Given the description of an element on the screen output the (x, y) to click on. 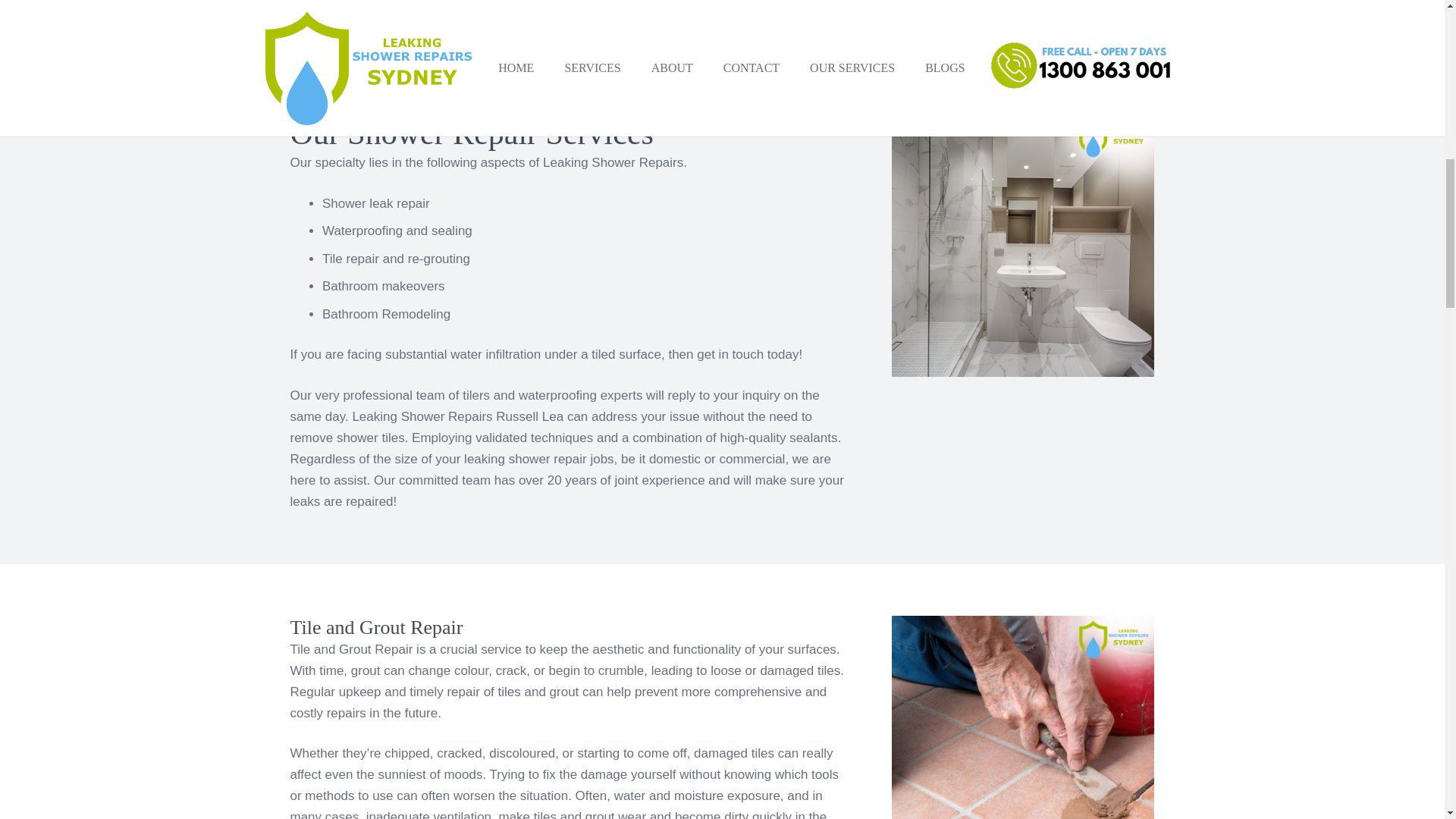
Back to top (1413, 26)
